Given the description of an element on the screen output the (x, y) to click on. 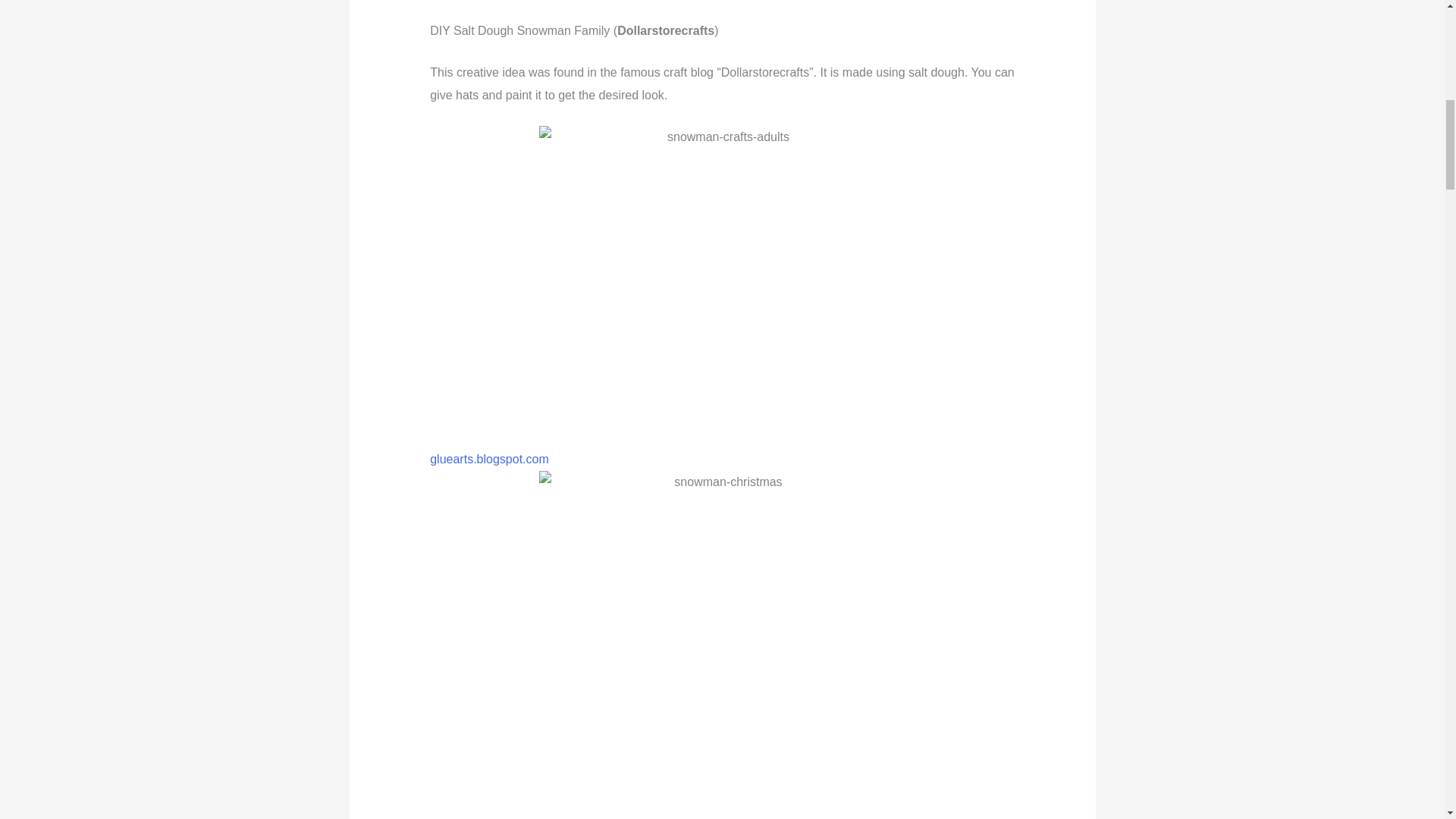
gluearts.blogspot.com (488, 459)
